Given the description of an element on the screen output the (x, y) to click on. 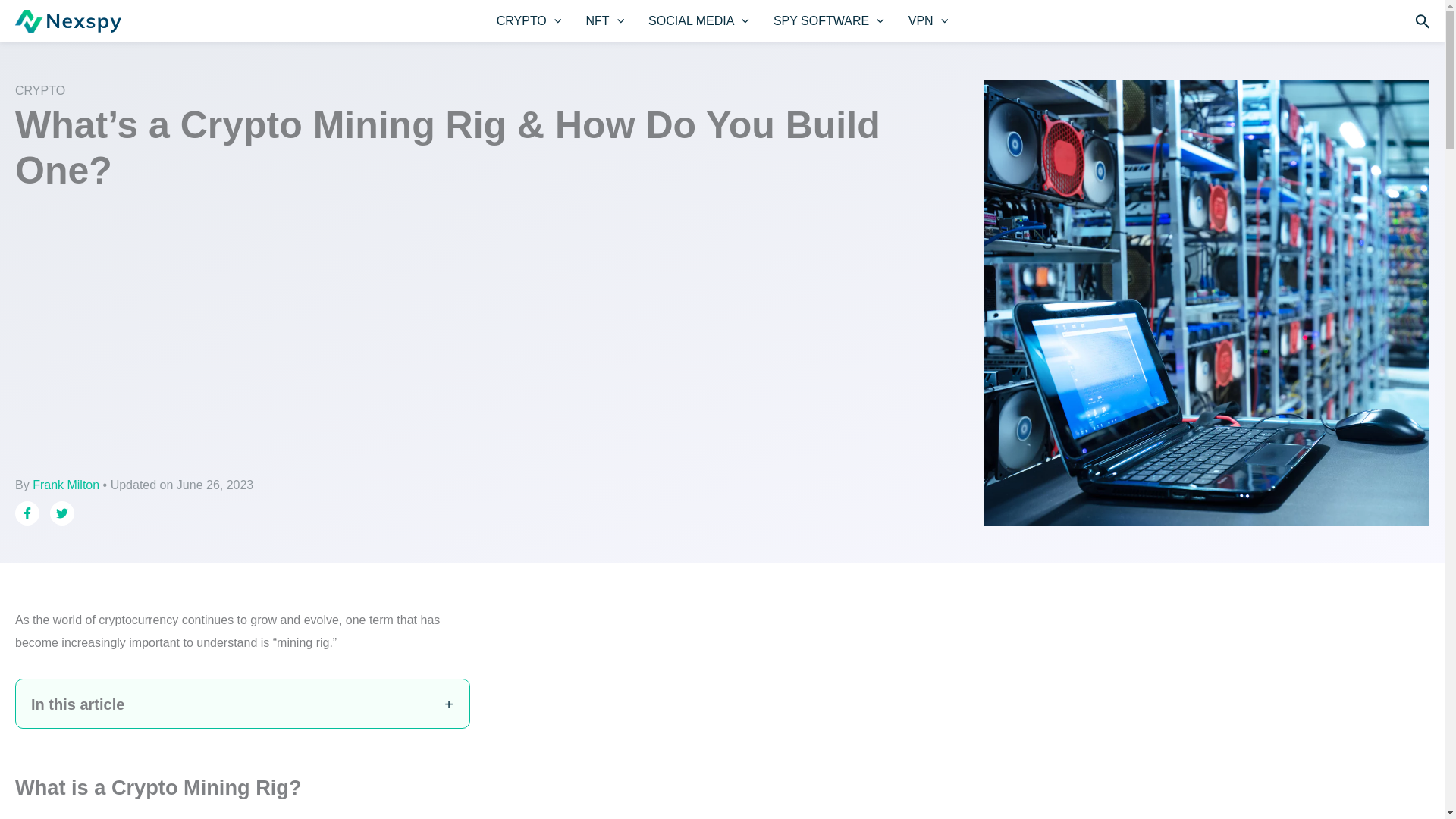
SOCIAL MEDIA (698, 20)
Crypto (39, 90)
NFT (604, 20)
VPN (928, 20)
SPY SOFTWARE (828, 20)
 View all posts by Frank Milton  (66, 484)
CRYPTO (528, 20)
